Given the description of an element on the screen output the (x, y) to click on. 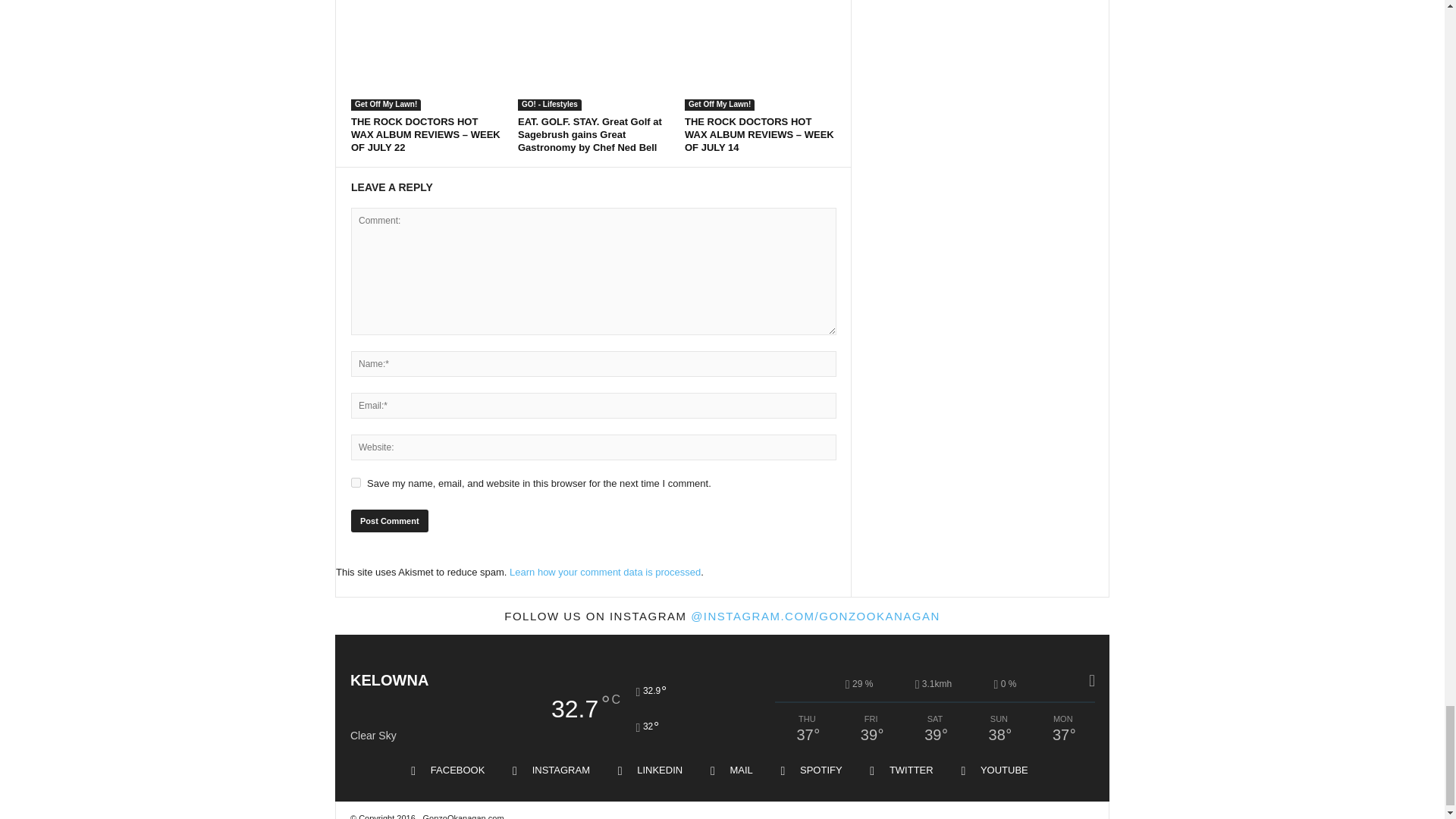
Post Comment (389, 520)
yes (355, 482)
